Given the description of an element on the screen output the (x, y) to click on. 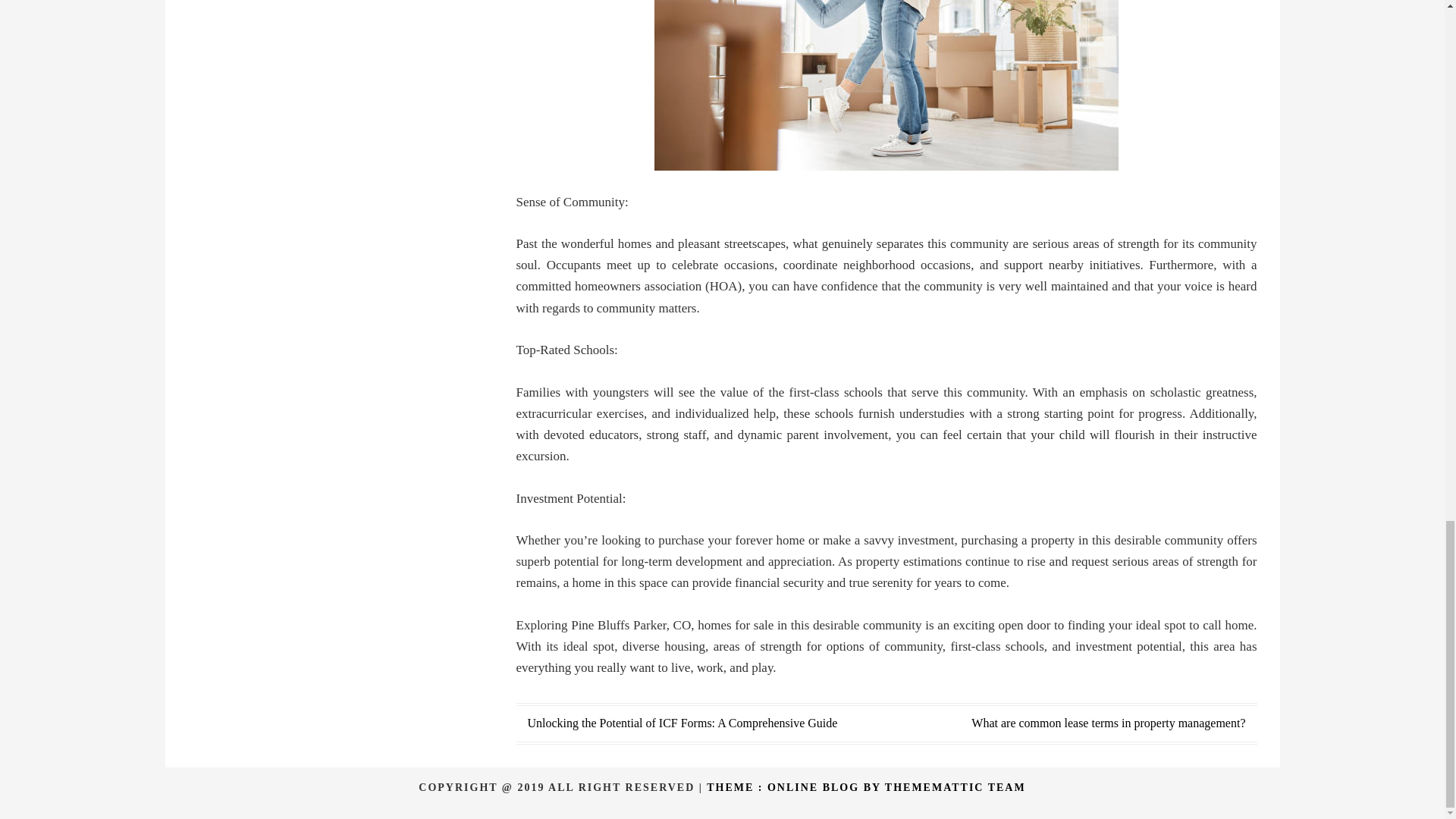
Unlocking the Potential of ICF Forms: A Comprehensive Guide (682, 722)
THEMEMATTIC TEAM (955, 787)
What are common lease terms in property management? (1107, 722)
THEME : ONLINE BLOG BY (795, 787)
